Given the description of an element on the screen output the (x, y) to click on. 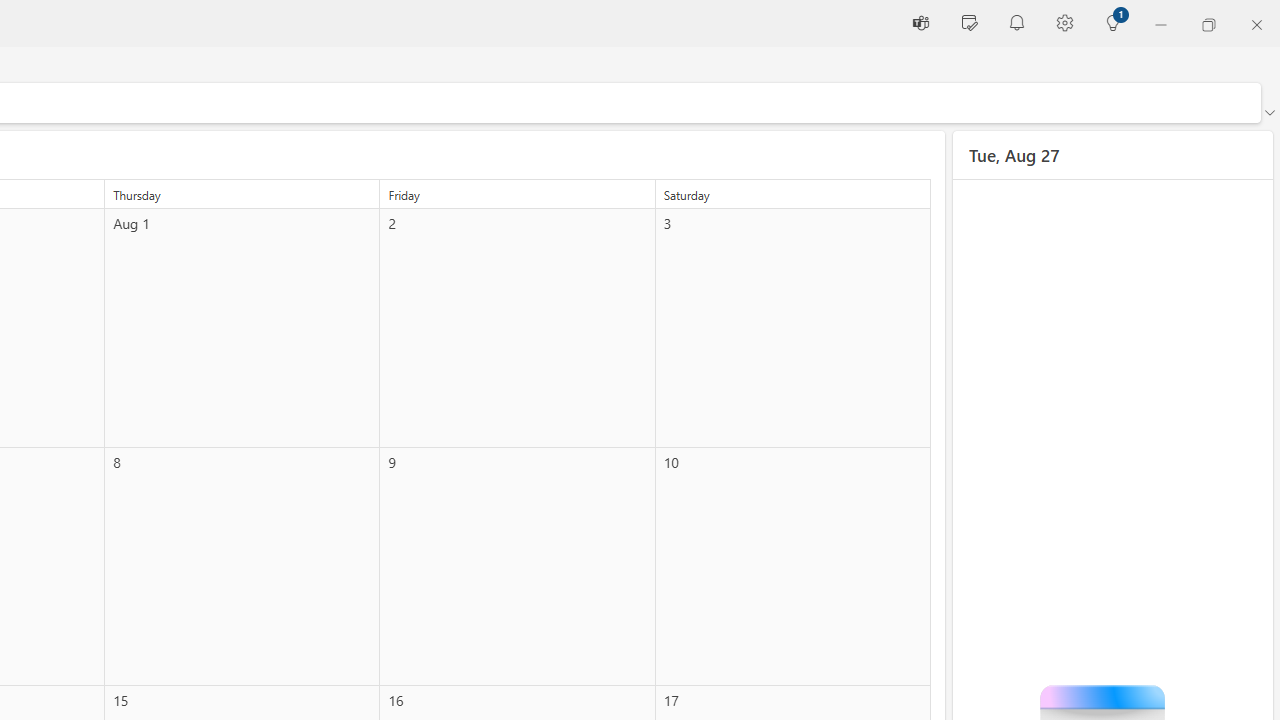
Ribbon display options (1269, 112)
